Given the description of an element on the screen output the (x, y) to click on. 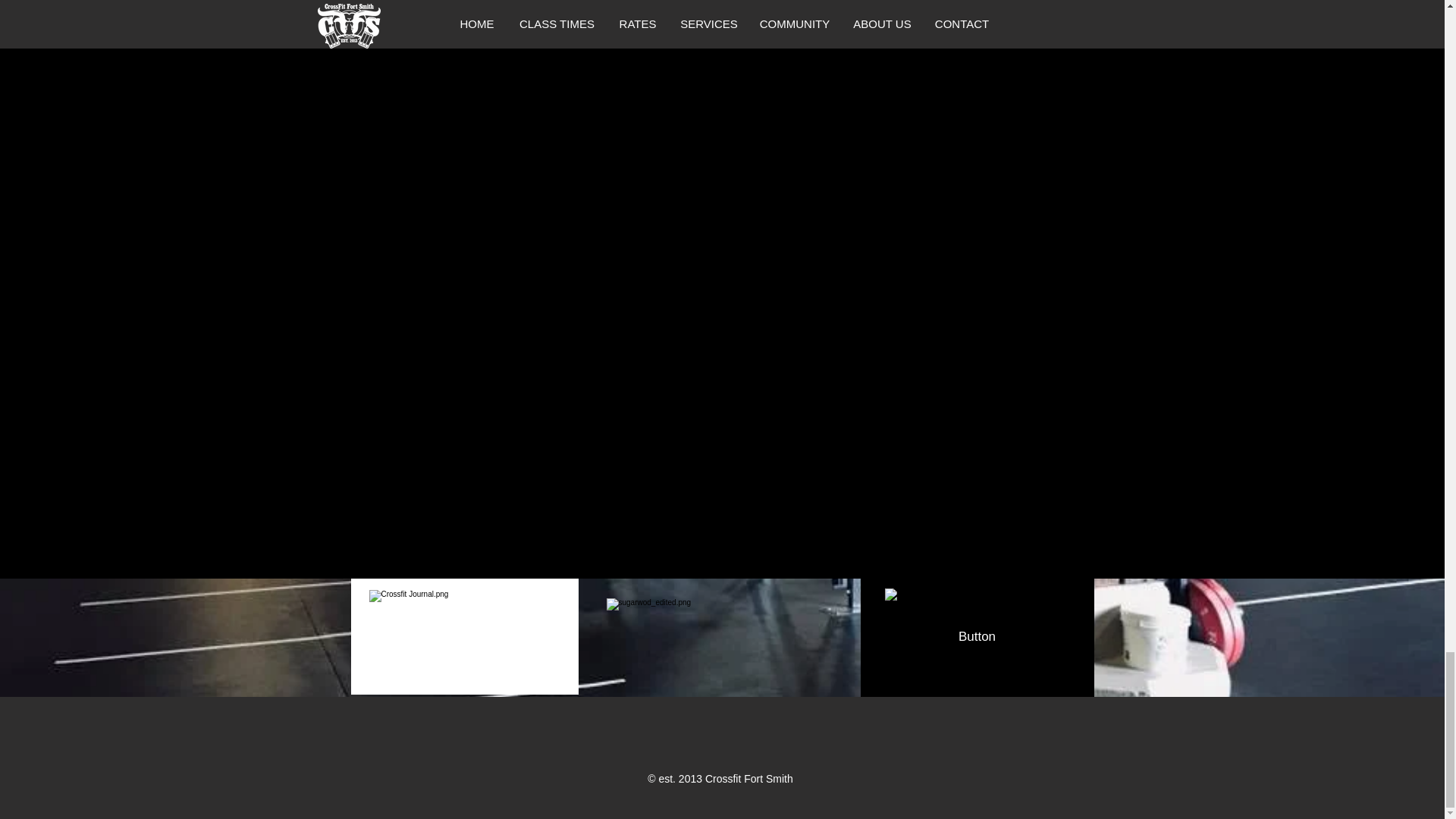
Button (976, 636)
